Given the description of an element on the screen output the (x, y) to click on. 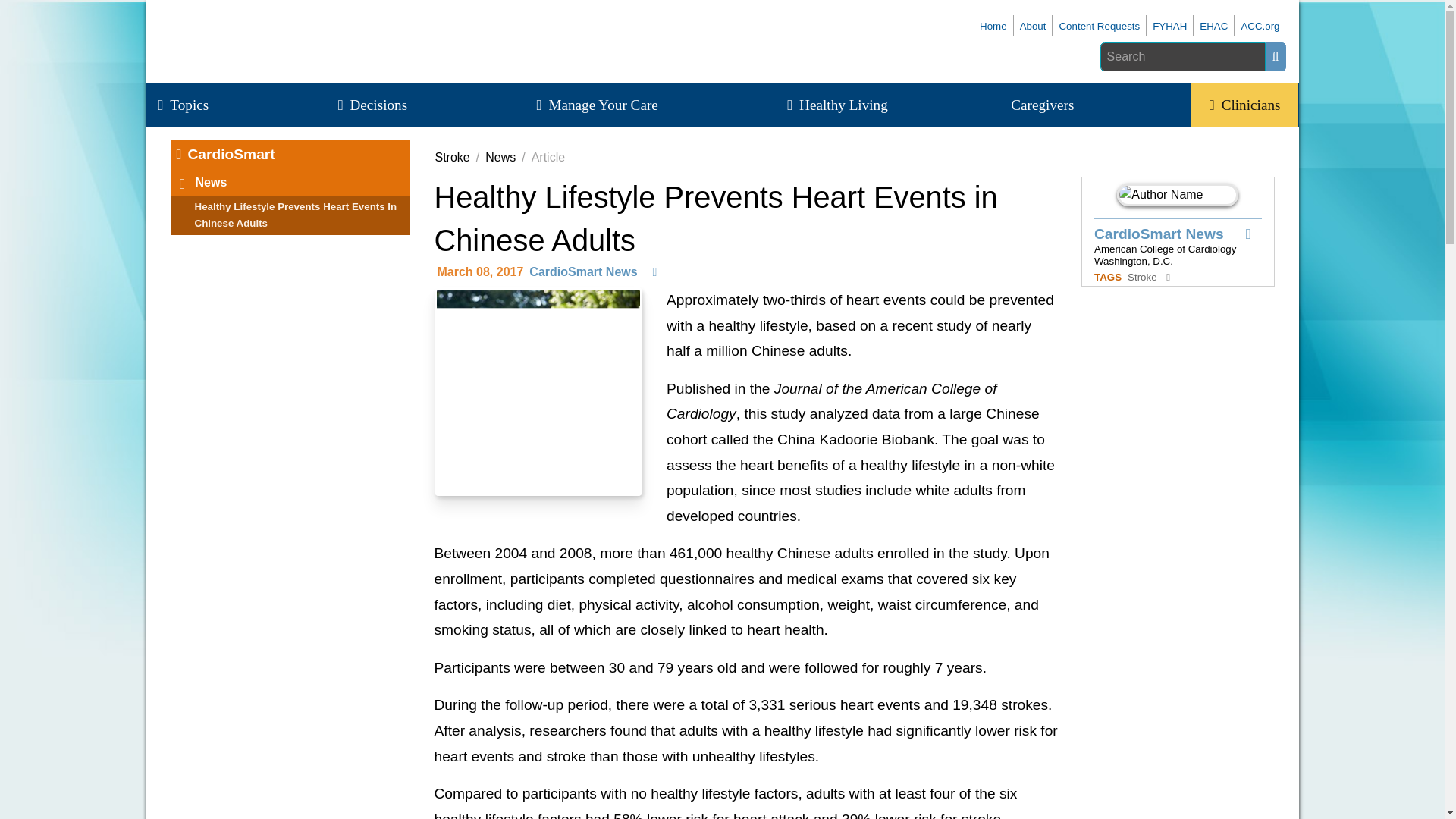
Content Requests (1099, 25)
Topics (192, 105)
About CardioSmart (1033, 25)
Home (993, 25)
EHAC (1213, 25)
CardioSmart (993, 25)
Early Heart Attack Care (1213, 25)
American College of Cardiology (1259, 25)
About CardioSmart (1099, 25)
FYHAH (1169, 25)
